Given the description of an element on the screen output the (x, y) to click on. 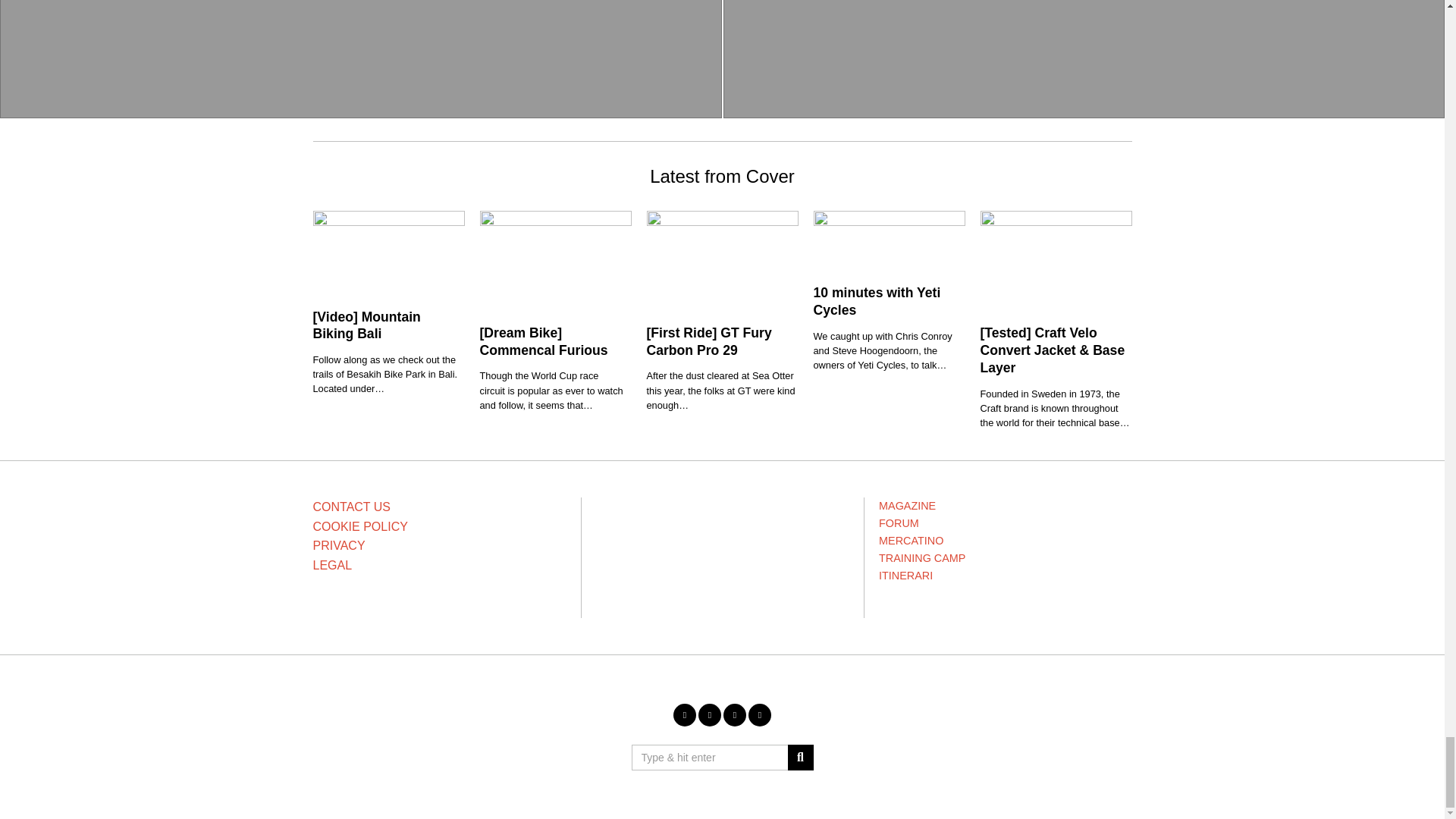
Go (799, 757)
Tiktok (759, 714)
Instagram (709, 714)
Facebook (683, 714)
YouTube (734, 714)
